Given the description of an element on the screen output the (x, y) to click on. 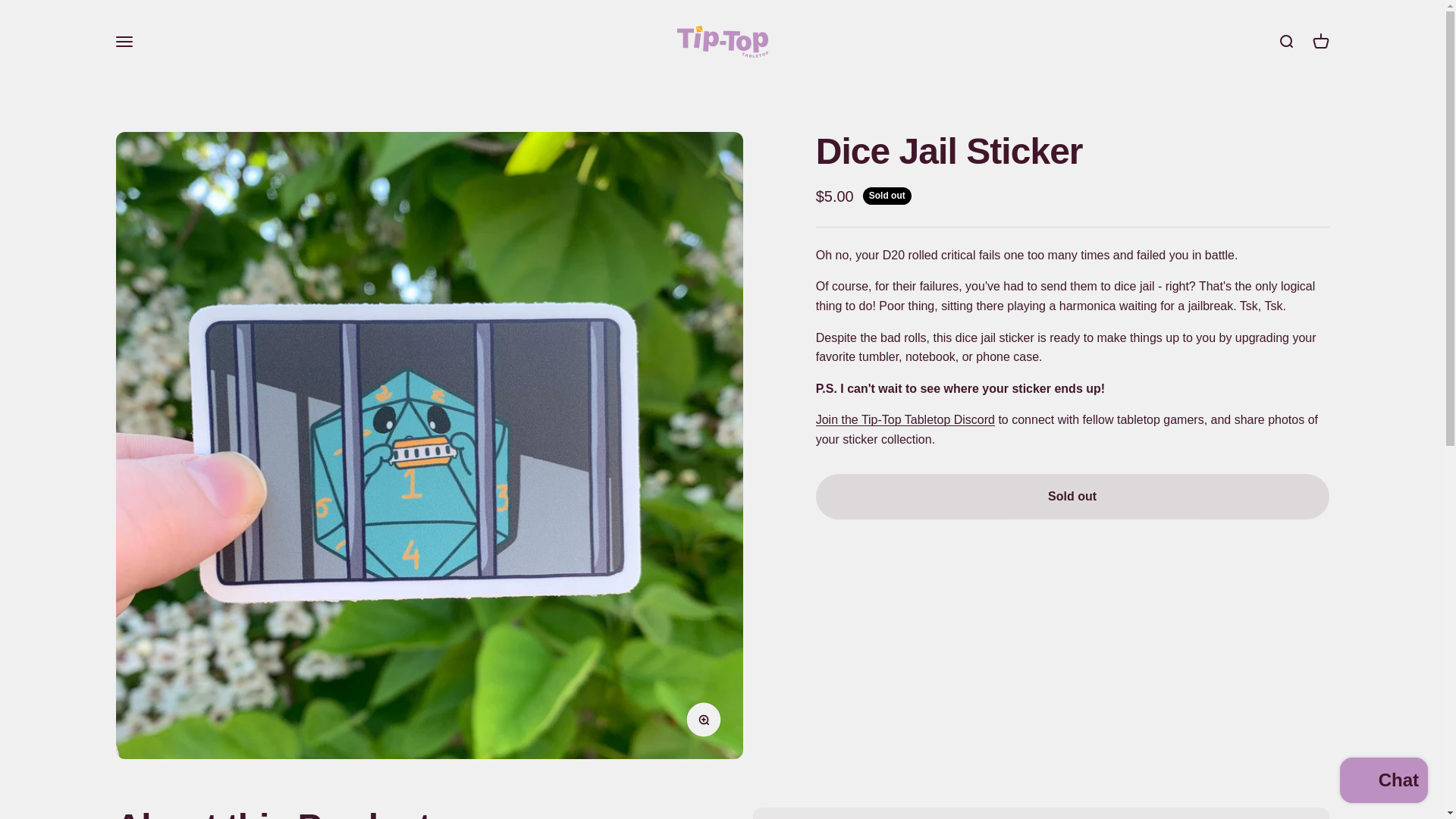
Sold out (1072, 496)
Open search (1285, 41)
Open navigation menu (123, 41)
Shopify online store chat (1319, 41)
Tip-Top Tabletop Discord Invite (1383, 781)
Tip-Top Tabletop (904, 419)
Zoom (722, 41)
Join the Tip-Top Tabletop Discord (707, 723)
